Given the description of an element on the screen output the (x, y) to click on. 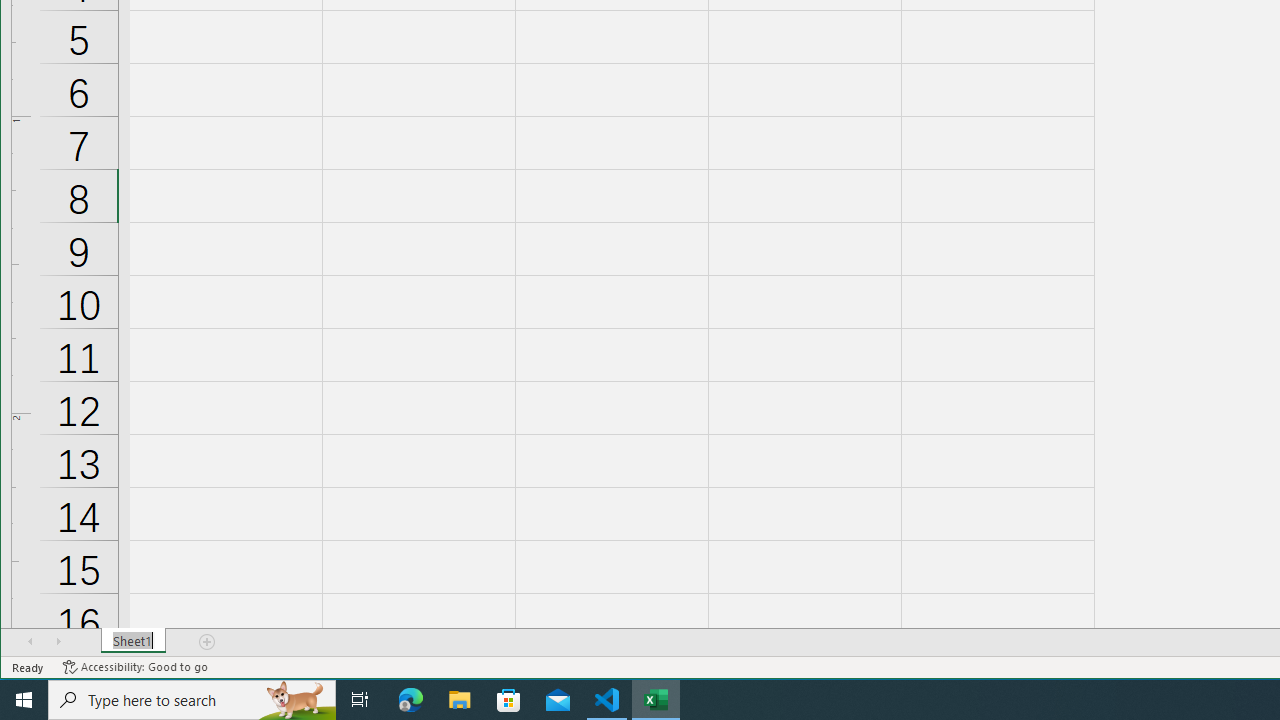
Type here to search (191, 699)
